Given the description of an element on the screen output the (x, y) to click on. 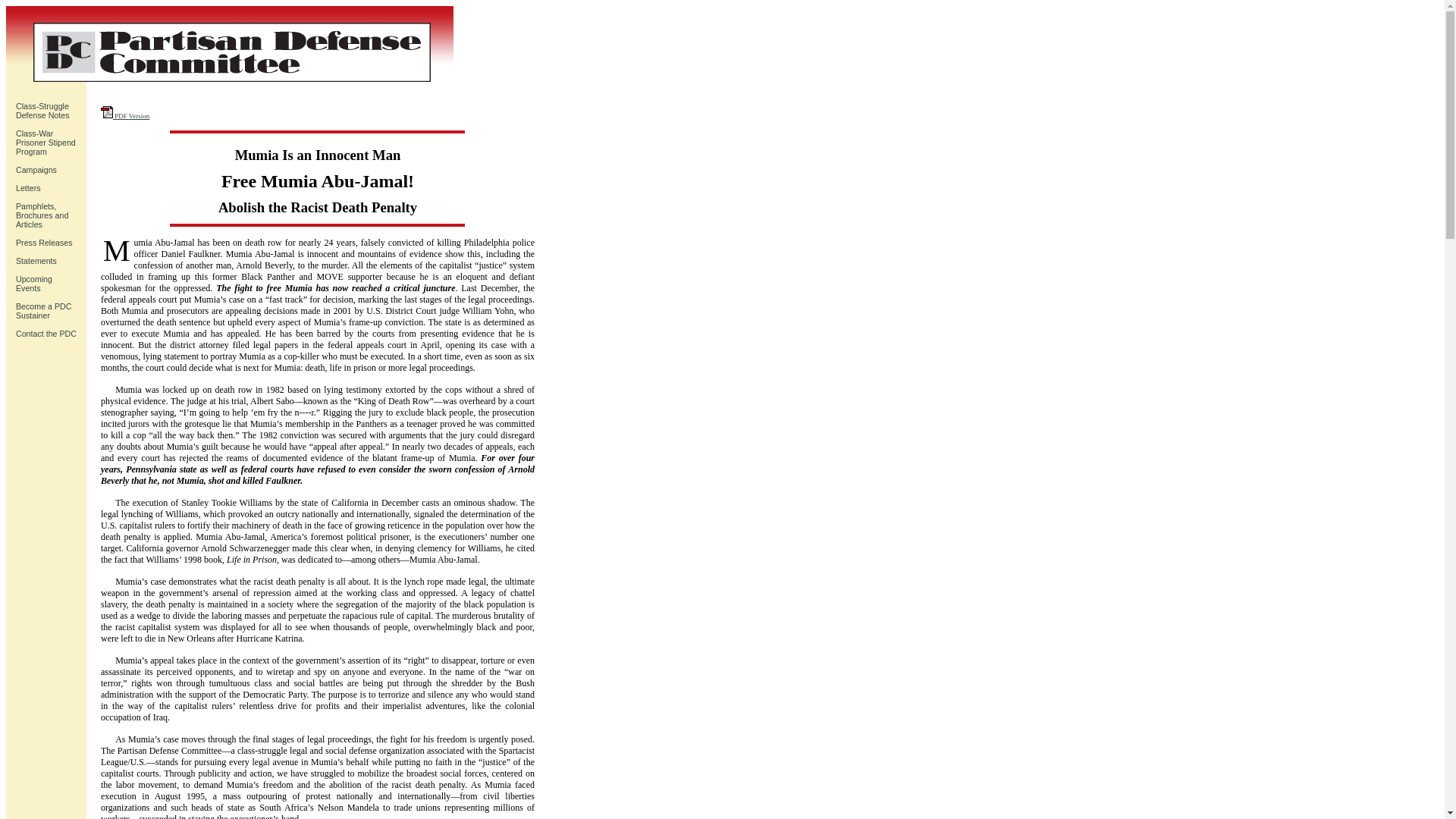
Statements (34, 283)
Campaigns (36, 260)
Letters (36, 169)
Class-War Prisoner Stipend Program (28, 187)
PDF Version (45, 142)
Pamphlets, Brochures and Articles (124, 115)
Class-Struggle Defense Notes (42, 215)
Contact the PDC (42, 110)
Become a PDC Sustainer (46, 333)
